Given the description of an element on the screen output the (x, y) to click on. 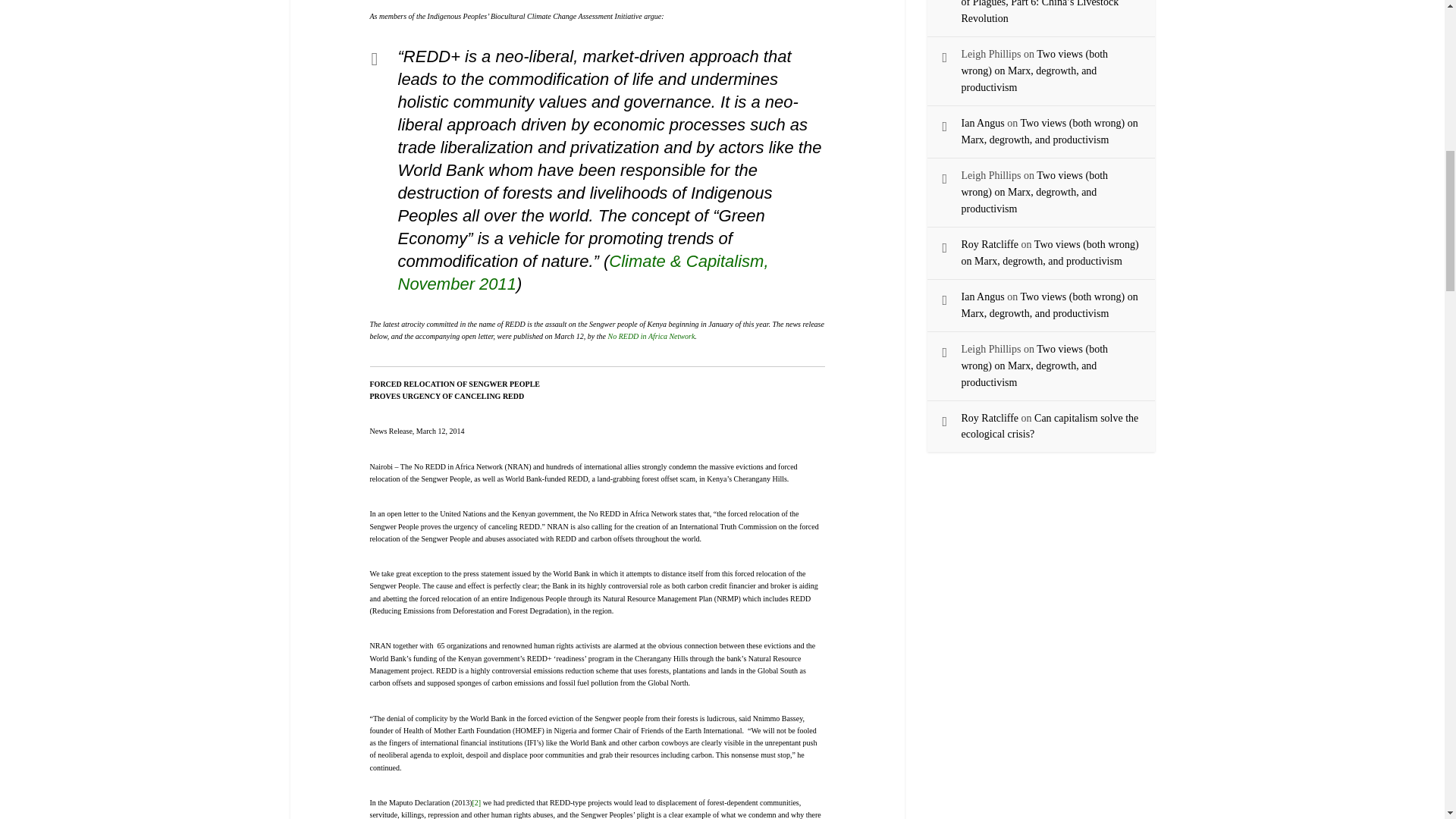
No REDD in Africa Network (649, 336)
